Given the description of an element on the screen output the (x, y) to click on. 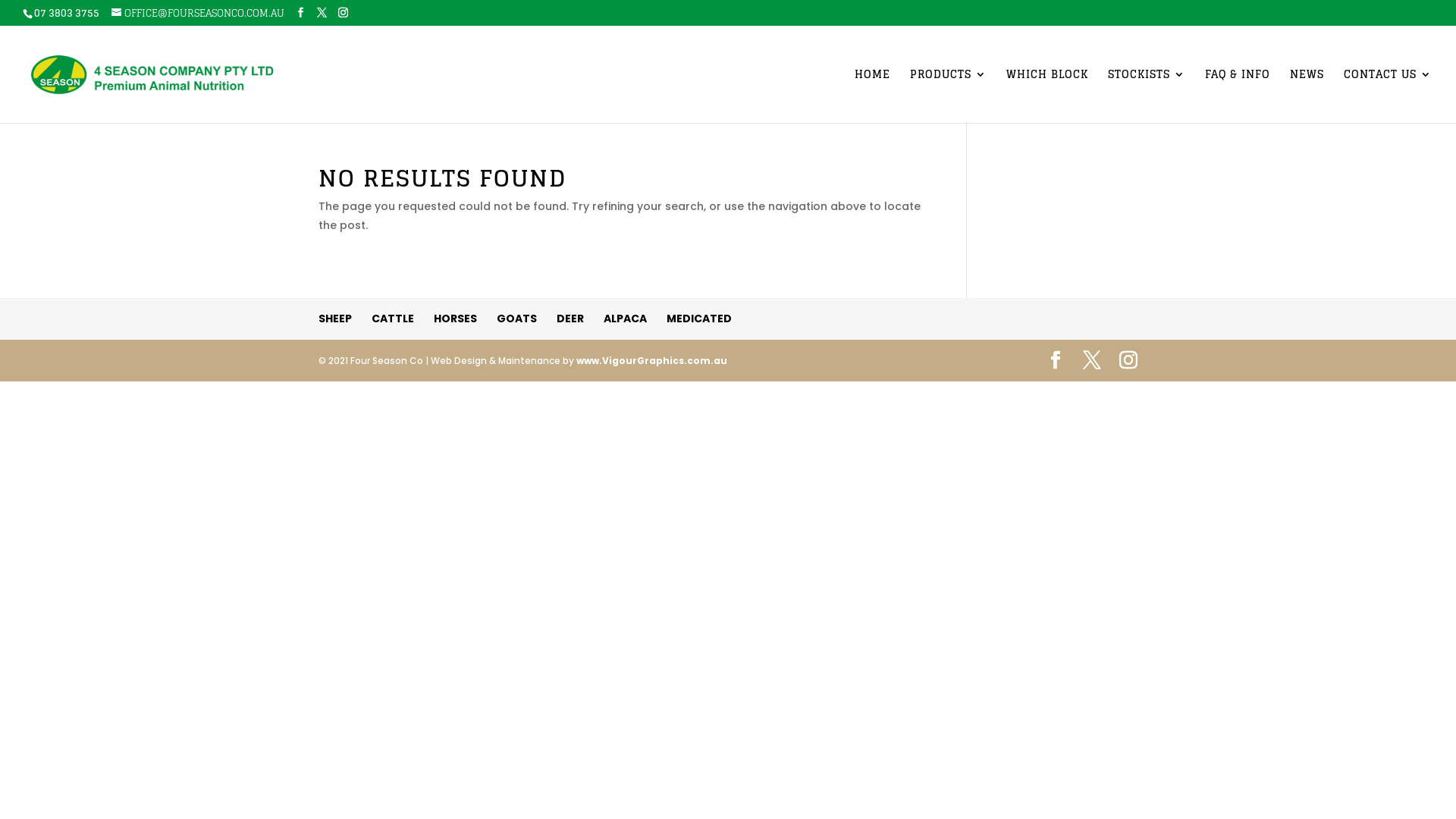
HOME Element type: text (872, 95)
GOATS Element type: text (516, 318)
OFFICE@FOURSEASONCO.COM.AU Element type: text (197, 12)
SHEEP Element type: text (334, 318)
STOCKISTS Element type: text (1146, 95)
CATTLE Element type: text (392, 318)
MEDICATED Element type: text (698, 318)
NEWS Element type: text (1306, 95)
HORSES Element type: text (454, 318)
WHICH BLOCK Element type: text (1047, 95)
www.VigourGraphics.com.au Element type: text (651, 360)
ALPACA Element type: text (624, 318)
PRODUCTS Element type: text (948, 95)
CONTACT US Element type: text (1387, 95)
DEER Element type: text (569, 318)
FAQ & INFO Element type: text (1237, 95)
